Given the description of an element on the screen output the (x, y) to click on. 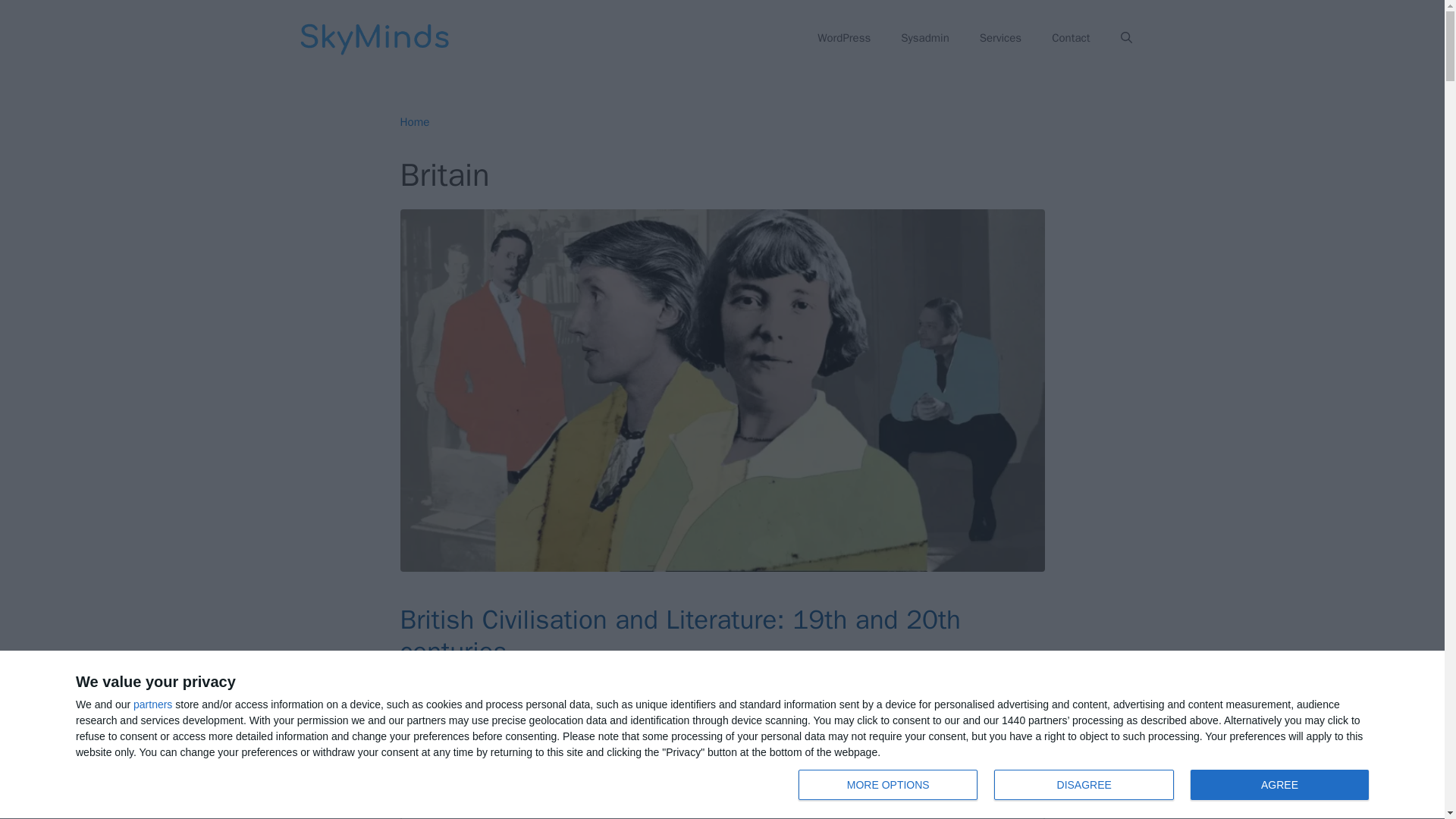
Contact (1070, 37)
DISAGREE (1083, 784)
MORE OPTIONS (886, 784)
Services (999, 37)
View all posts by Matt Biscay (520, 680)
Home (414, 121)
Matt Biscay (520, 680)
Sysadmin (924, 37)
partners (152, 704)
AGREE (1279, 784)
British Civilisation and Literature: 19th and 20th centuries (1086, 785)
WordPress (680, 635)
The 18th Century: the Age of Enlightenment (843, 37)
